Given the description of an element on the screen output the (x, y) to click on. 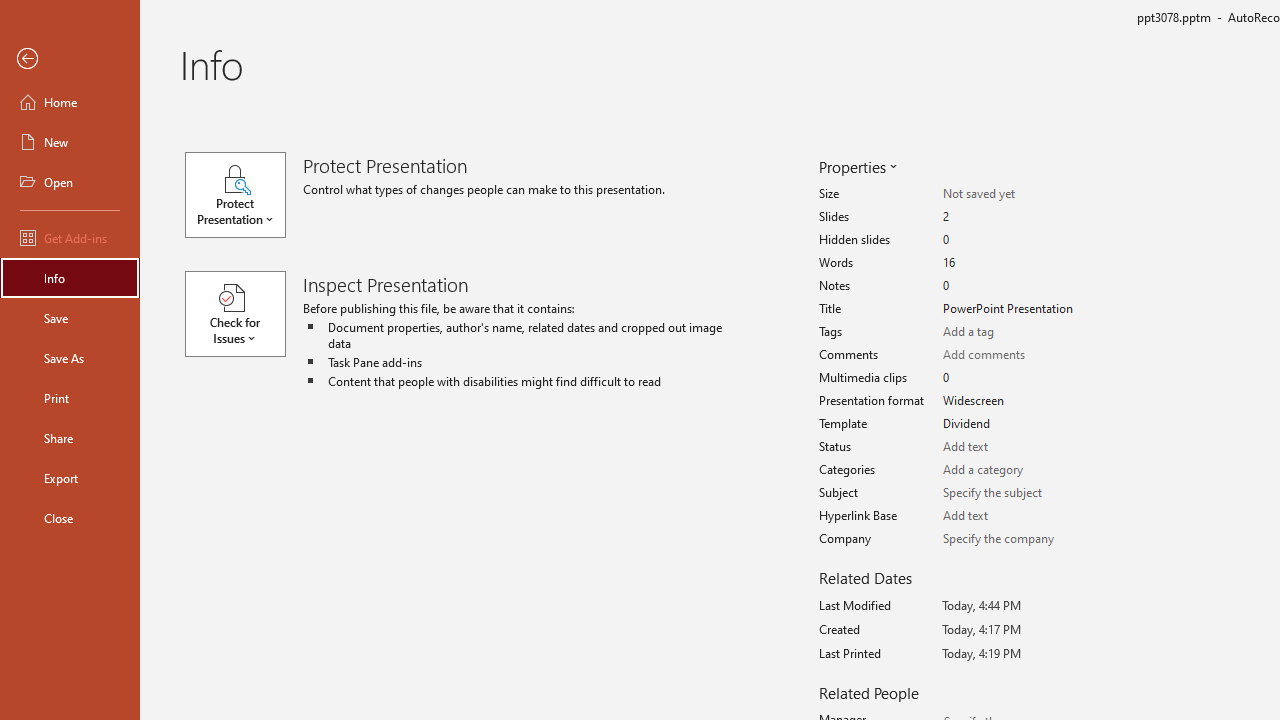
Status (1012, 447)
Properties (856, 166)
Info (69, 277)
Presentation format (1012, 401)
Hidden slides (1012, 240)
Back (69, 59)
Template (1012, 424)
Slides (1012, 217)
Get Add-ins (69, 237)
Company (1012, 538)
Check for Issues (244, 313)
New (69, 141)
Protect Presentation (244, 194)
